Given the description of an element on the screen output the (x, y) to click on. 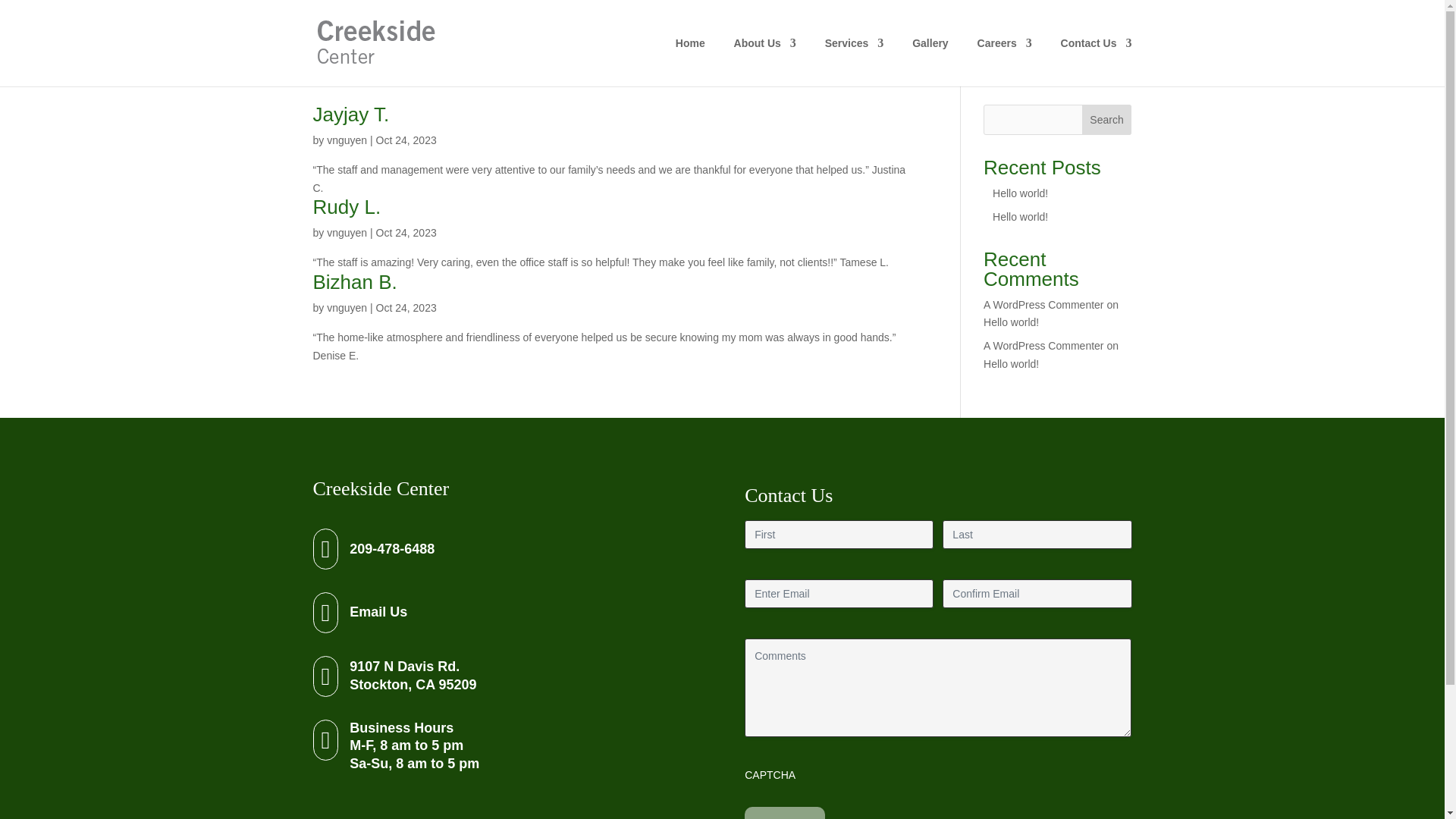
vnguyen (346, 307)
vnguyen (346, 140)
Jayjay T. (350, 114)
Posts by vnguyen (412, 675)
209-478-6488 (346, 307)
Services (391, 548)
Bizhan B. (854, 61)
Posts by vnguyen (354, 282)
Hello world! (346, 140)
